Given the description of an element on the screen output the (x, y) to click on. 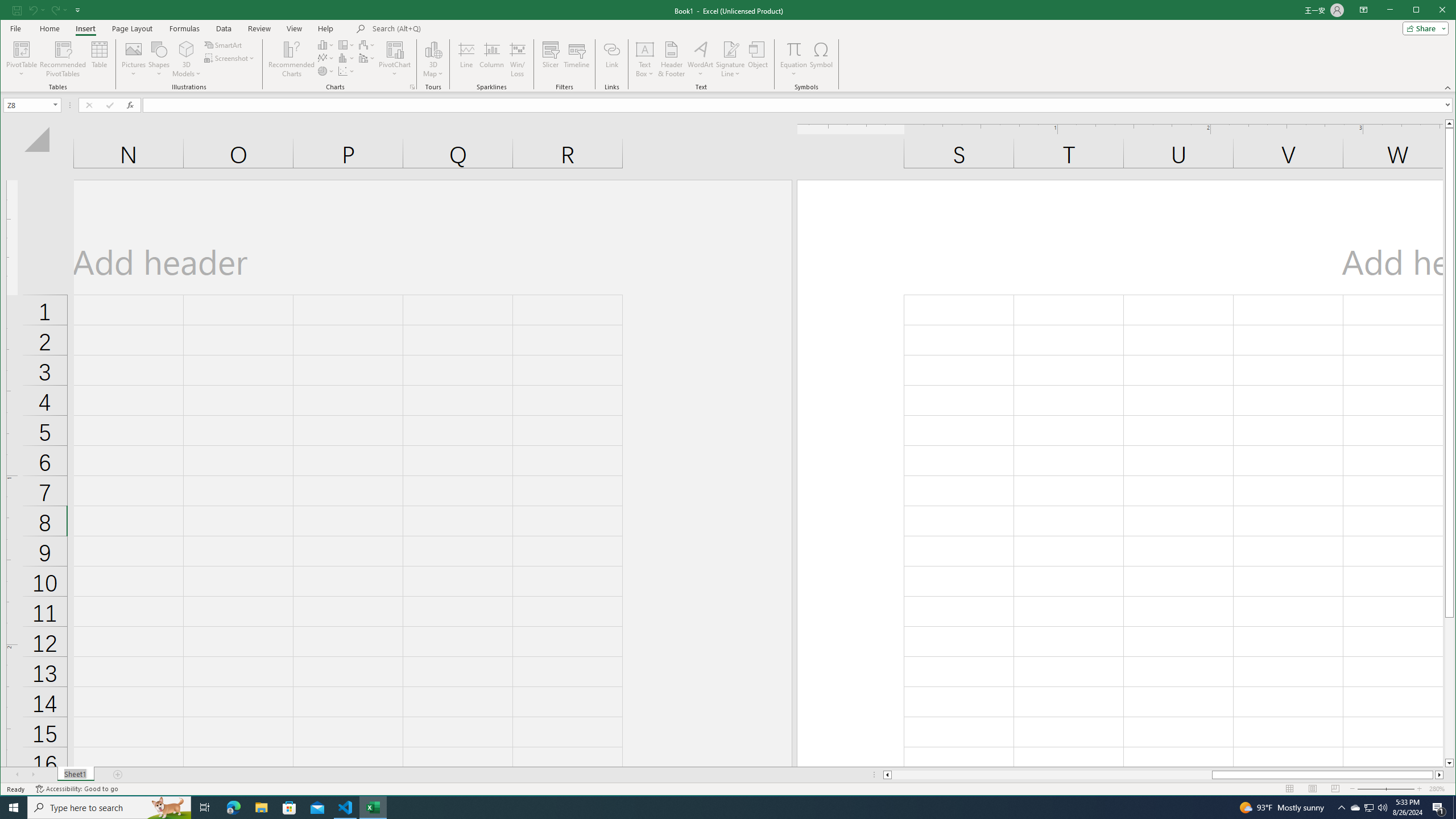
Microsoft Store (289, 807)
Visual Studio Code - 1 running window (345, 807)
3D Models (186, 59)
WordArt (699, 59)
Search highlights icon opens search home window (167, 807)
PivotChart (394, 59)
Action Center, 1 new notification (1439, 807)
3D Map (432, 59)
Equation (793, 59)
